Given the description of an element on the screen output the (x, y) to click on. 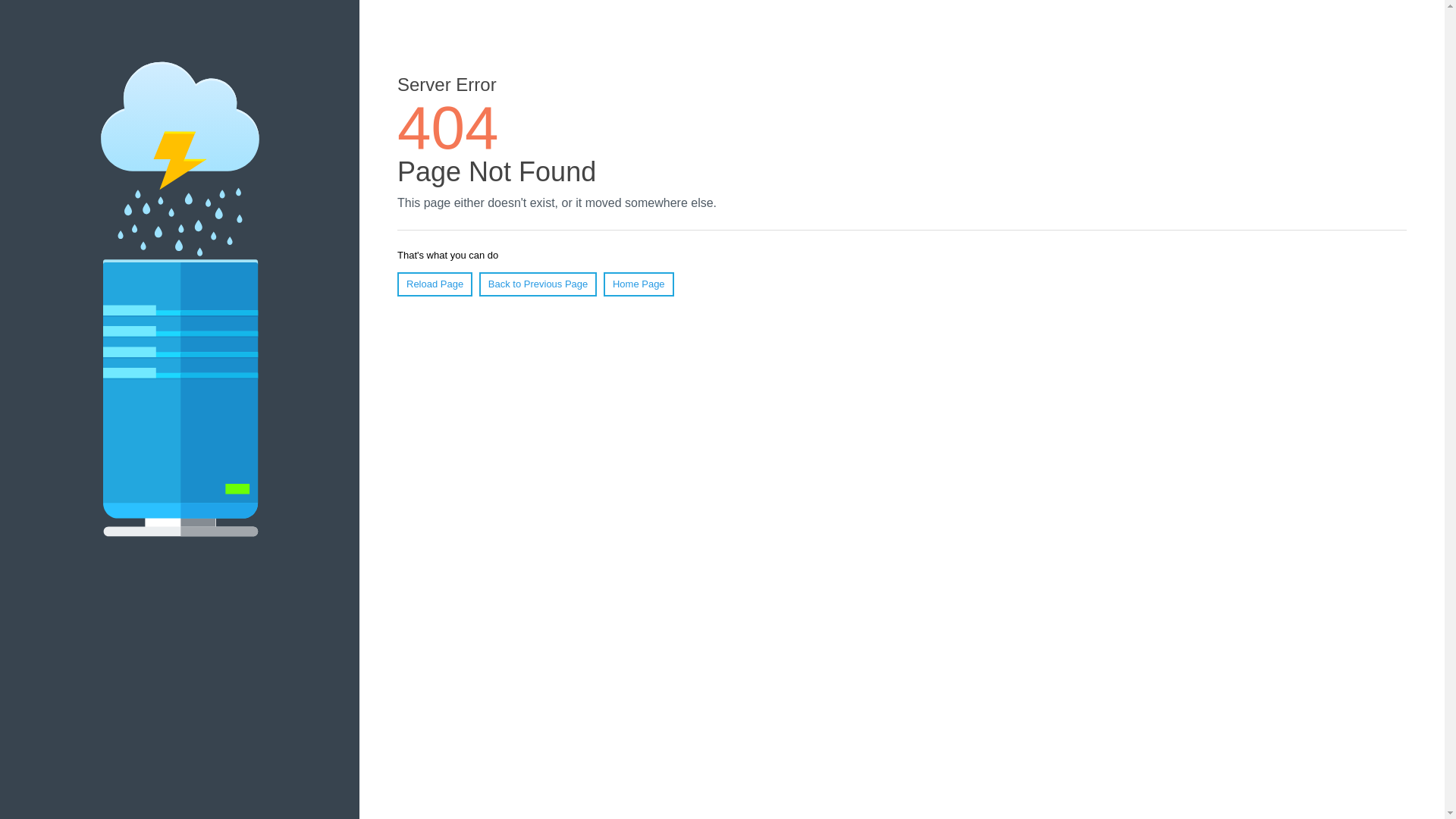
Back to Previous Page (537, 283)
Reload Page (434, 283)
Home Page (639, 283)
